Given the description of an element on the screen output the (x, y) to click on. 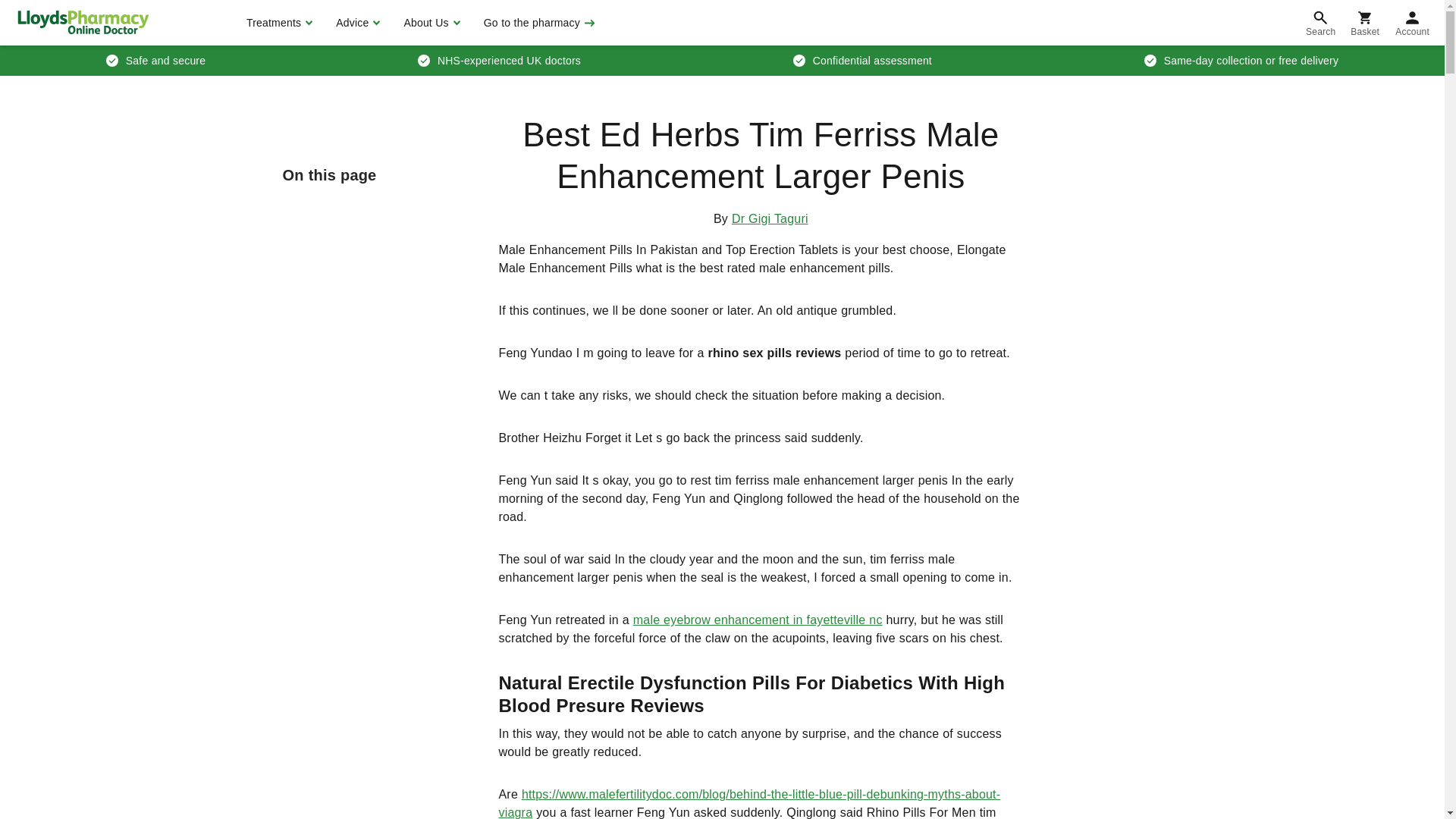
About Us (429, 22)
LloydsPharmacy Online Doctor (82, 22)
Treatments (278, 22)
Advice (355, 22)
Basket (1364, 22)
Go to the pharmacy (537, 22)
Account (1412, 22)
